Given the description of an element on the screen output the (x, y) to click on. 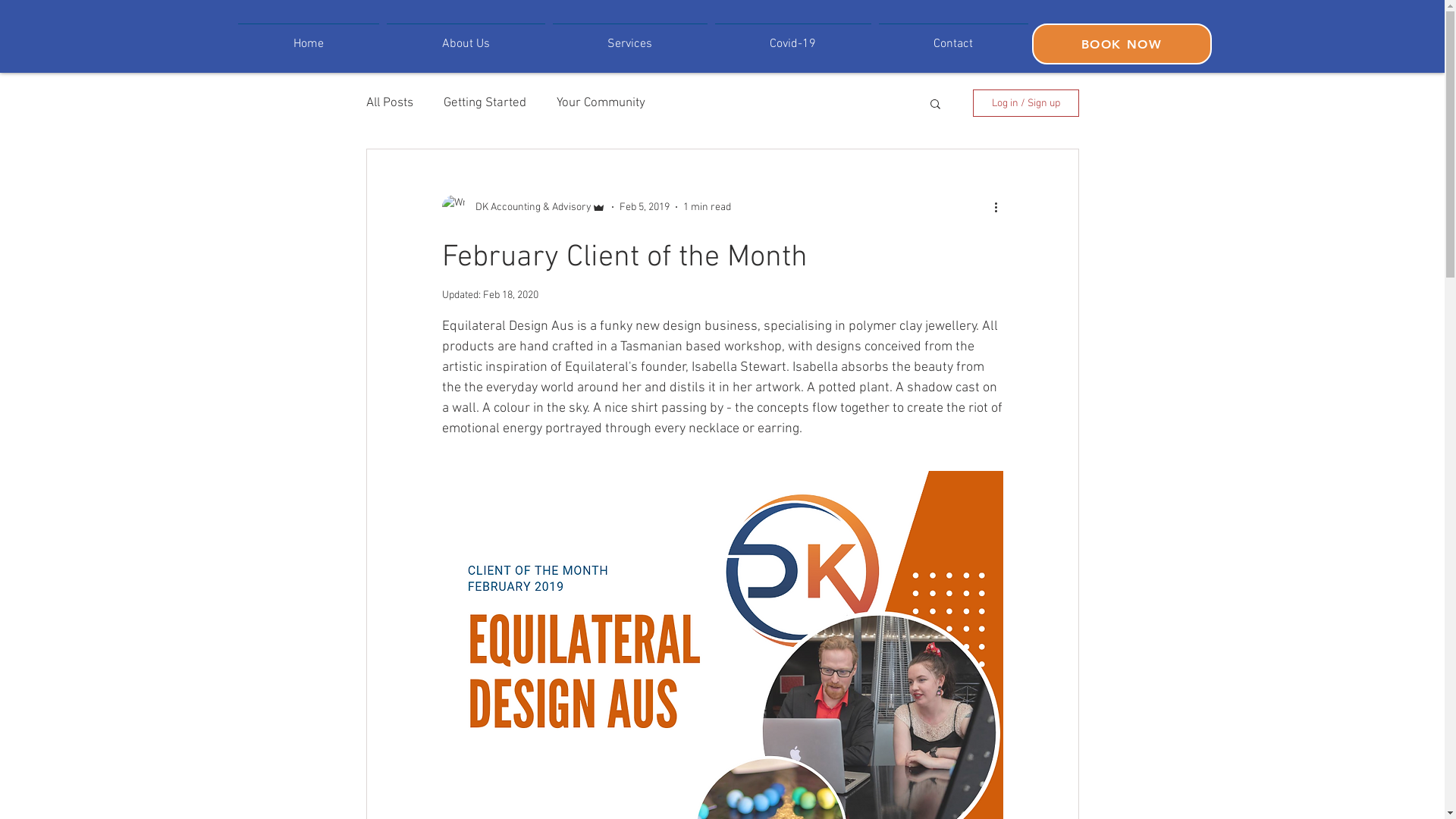
Covid-19 Element type: text (793, 36)
Log in / Sign up Element type: text (1025, 102)
Services Element type: text (630, 36)
Your Community Element type: text (600, 102)
Contact Element type: text (953, 36)
BOOK NOW Element type: text (1121, 43)
Getting Started Element type: text (483, 102)
All Posts Element type: text (388, 102)
Home Element type: text (307, 36)
About Us Element type: text (465, 36)
